Given the description of an element on the screen output the (x, y) to click on. 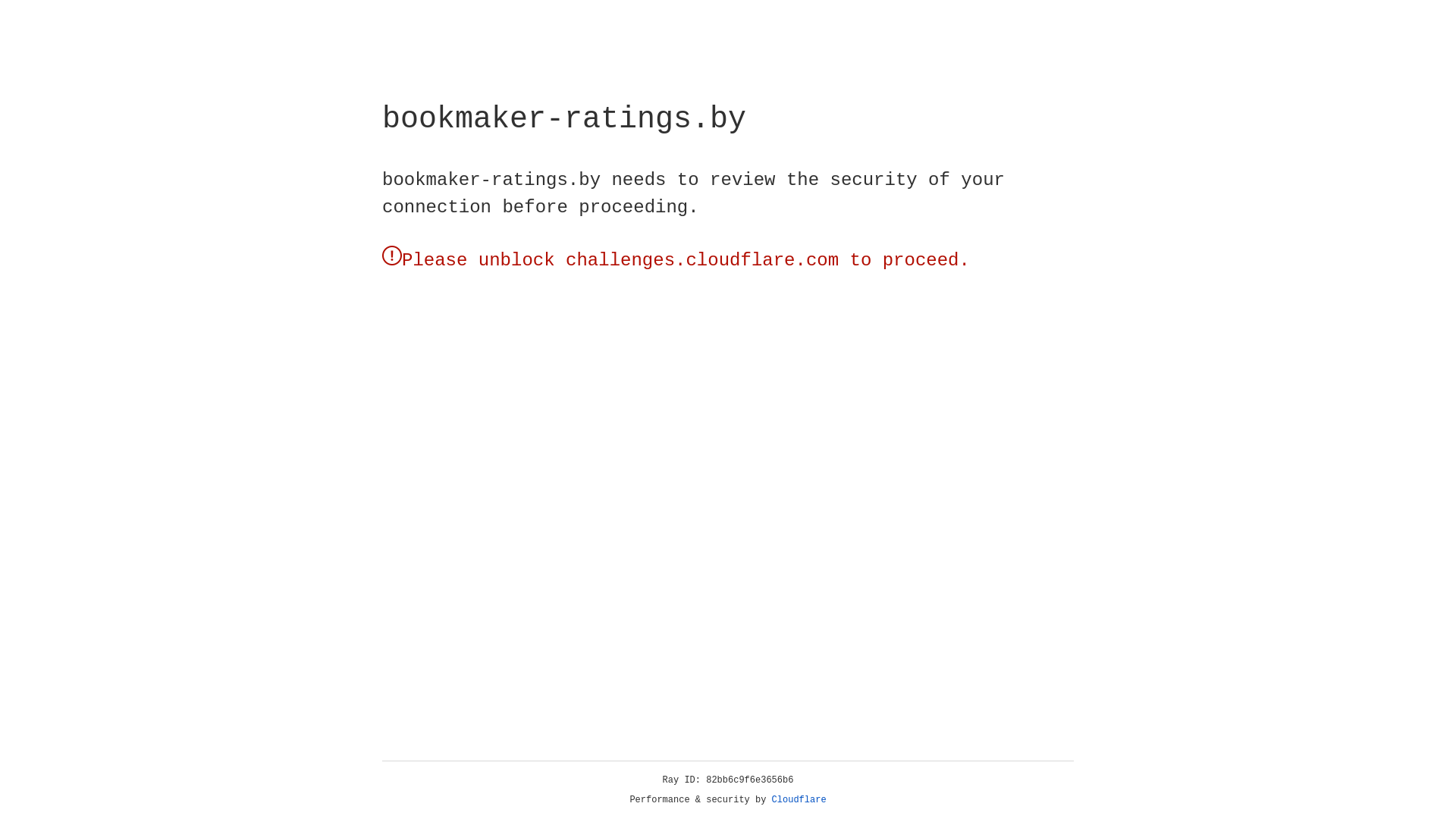
Cloudflare Element type: text (798, 799)
